Given the description of an element on the screen output the (x, y) to click on. 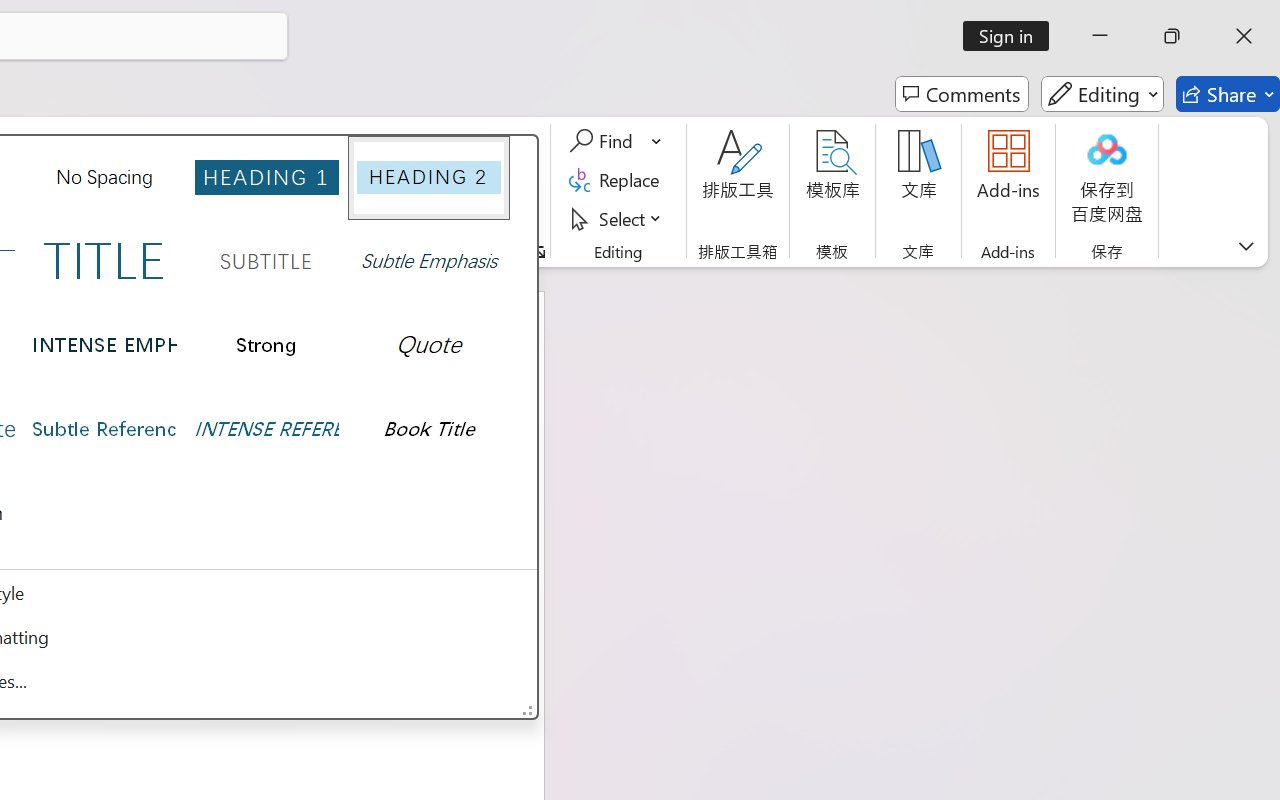
Sign in (1012, 35)
